Given the description of an element on the screen output the (x, y) to click on. 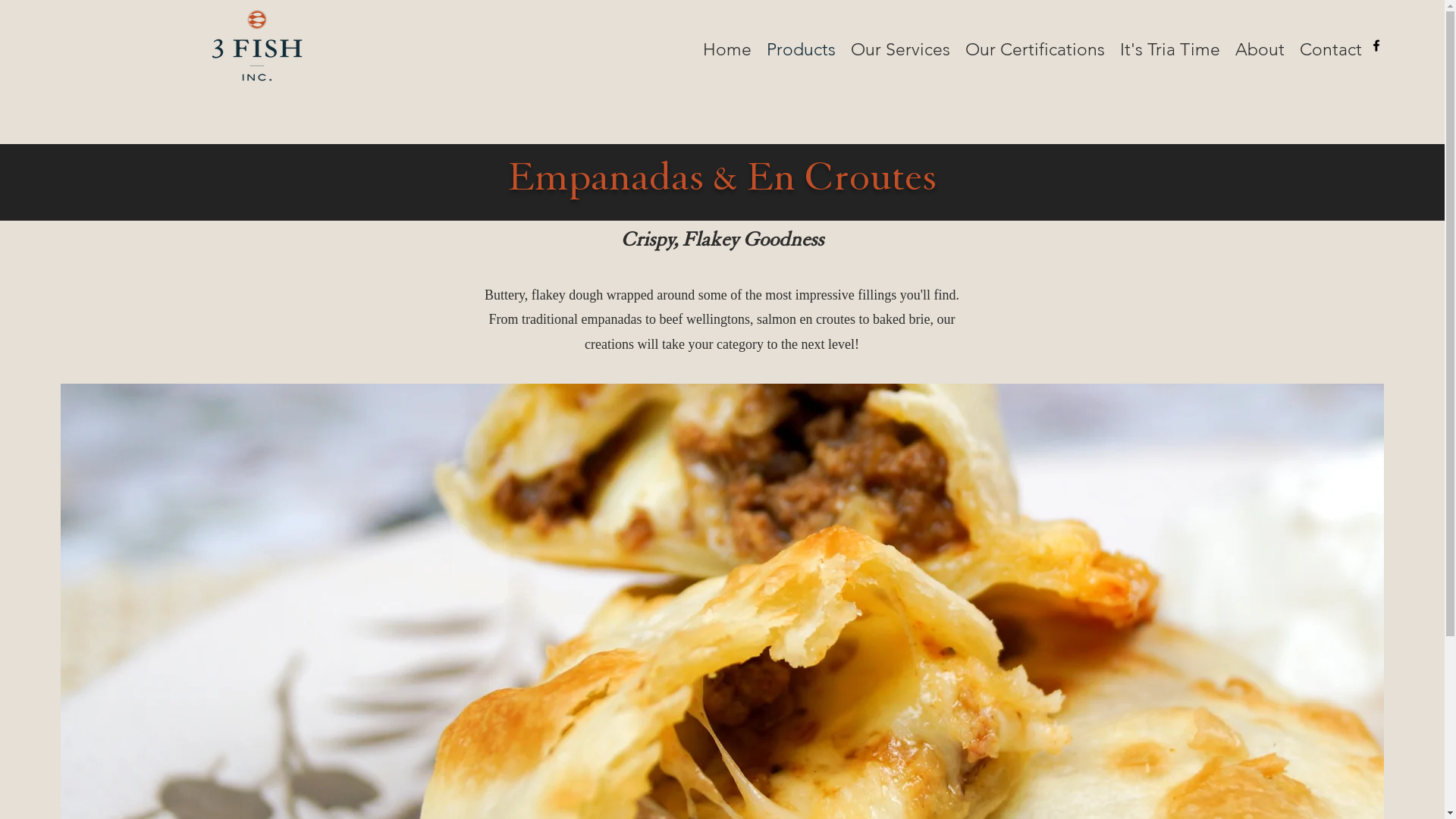
Contact Element type: text (1330, 45)
Products Element type: text (801, 45)
About Element type: text (1259, 45)
Our Certifications Element type: text (1034, 45)
It's Tria Time Element type: text (1169, 45)
Our Services Element type: text (900, 45)
Home Element type: text (727, 45)
